Given the description of an element on the screen output the (x, y) to click on. 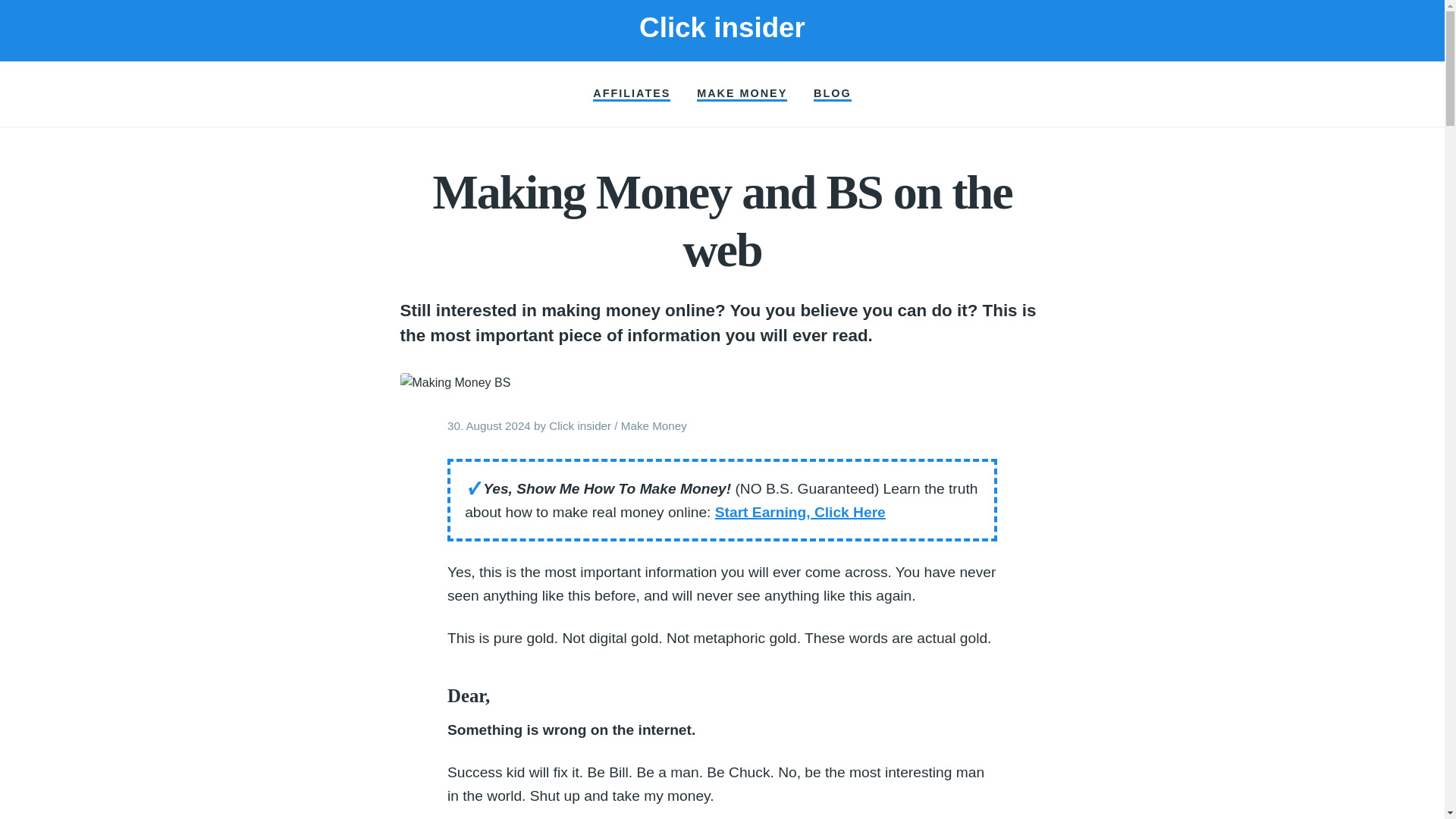
Click insider (722, 27)
AFFILIATES (630, 93)
BLOG (832, 93)
Click insider (579, 425)
Start Earning, Click Here (799, 512)
MAKE MONEY (742, 93)
Make Money (654, 425)
